Given the description of an element on the screen output the (x, y) to click on. 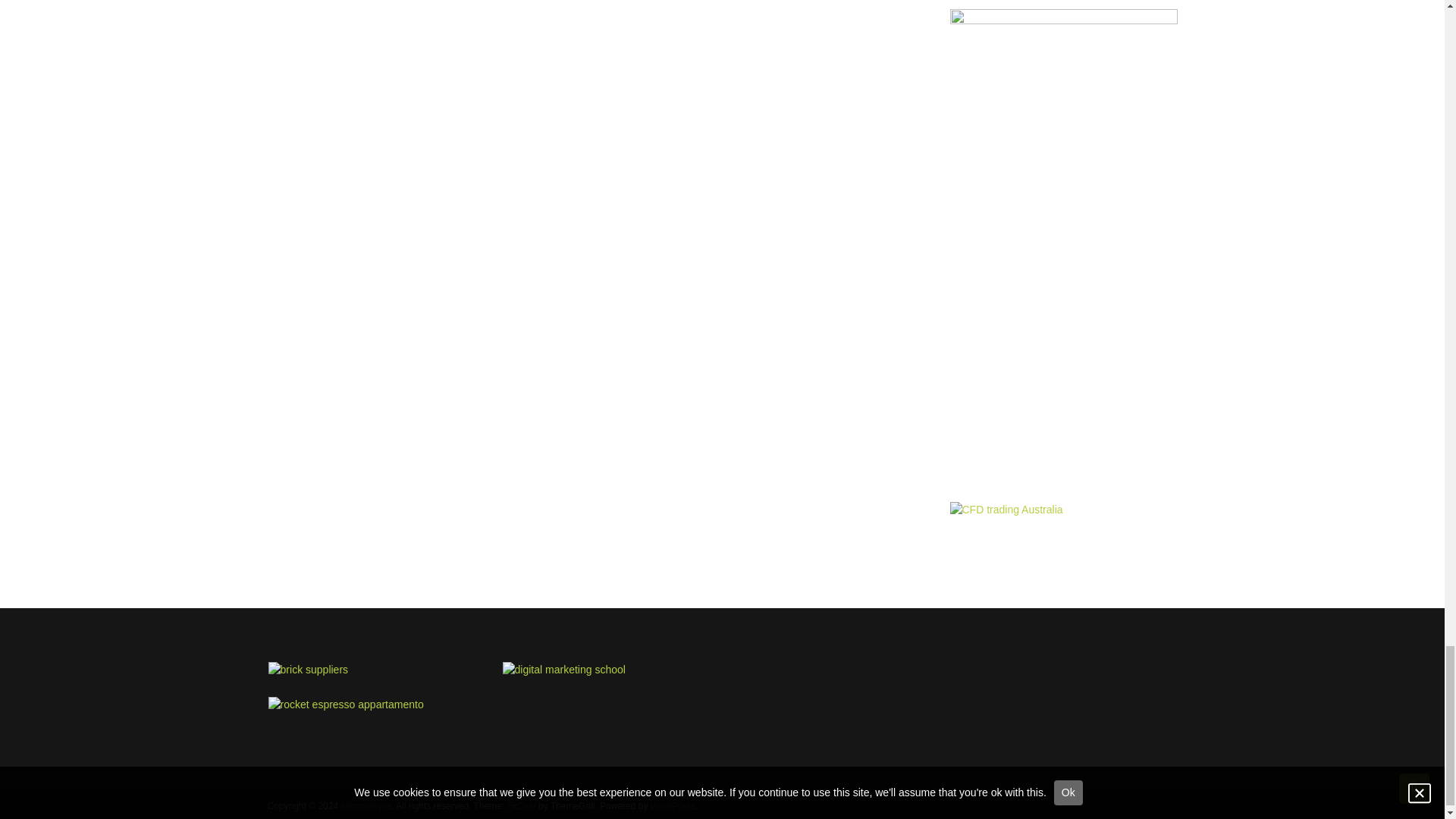
WordPress (672, 805)
Informatique (365, 805)
WordPress (672, 805)
FitClub (520, 805)
FitClub (520, 805)
Informatique (365, 805)
